Given the description of an element on the screen output the (x, y) to click on. 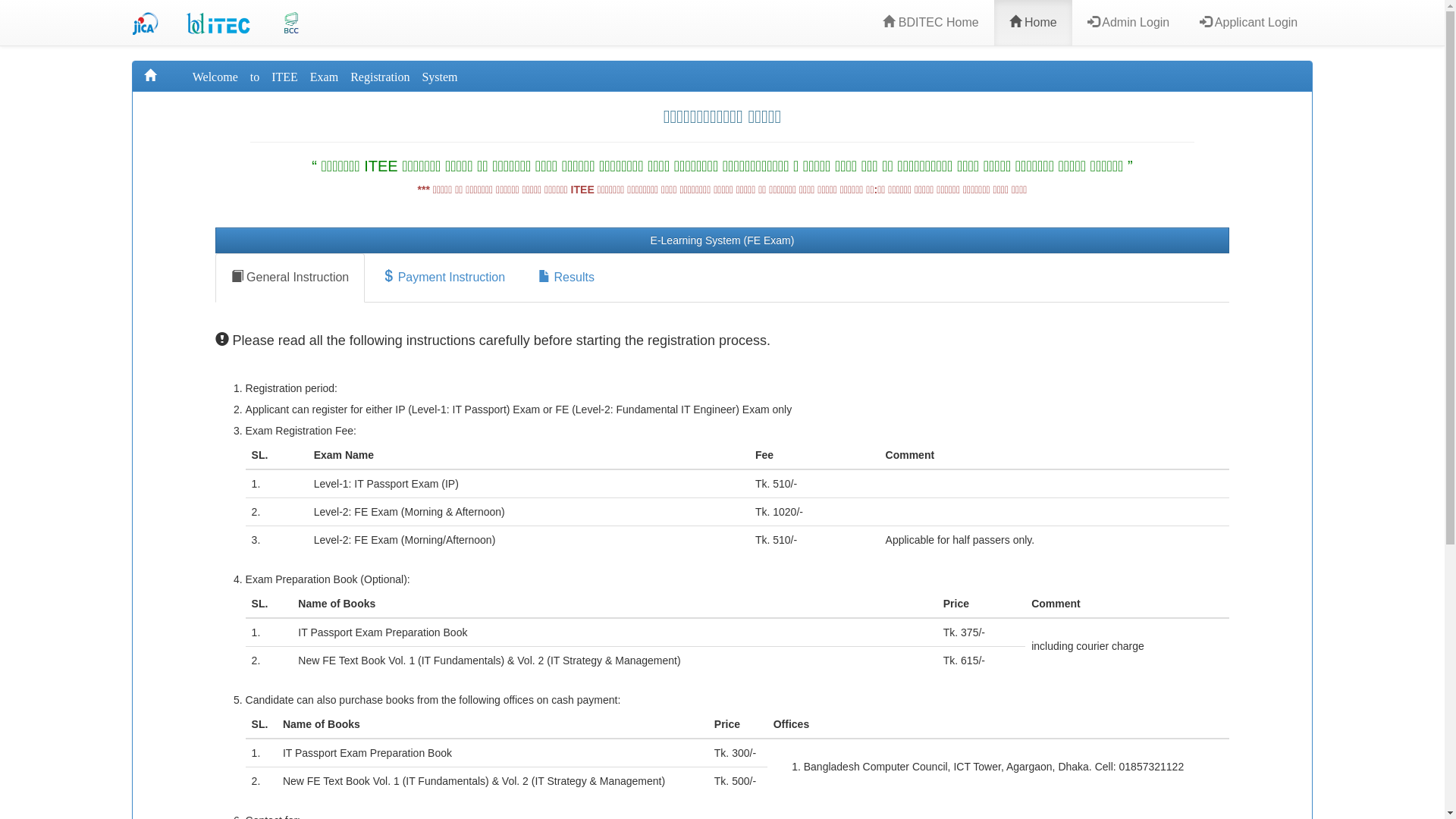
E-Learning System (FE Exam) Element type: text (722, 240)
 Applicant Login Element type: text (1248, 22)
 Payment Instruction Element type: text (443, 277)
 BDITEC Home Element type: text (930, 22)
 General Instruction Element type: text (290, 277)
 Results Element type: text (566, 277)
 Admin Login Element type: text (1128, 22)
 Home Element type: text (1033, 22)
